Given the description of an element on the screen output the (x, y) to click on. 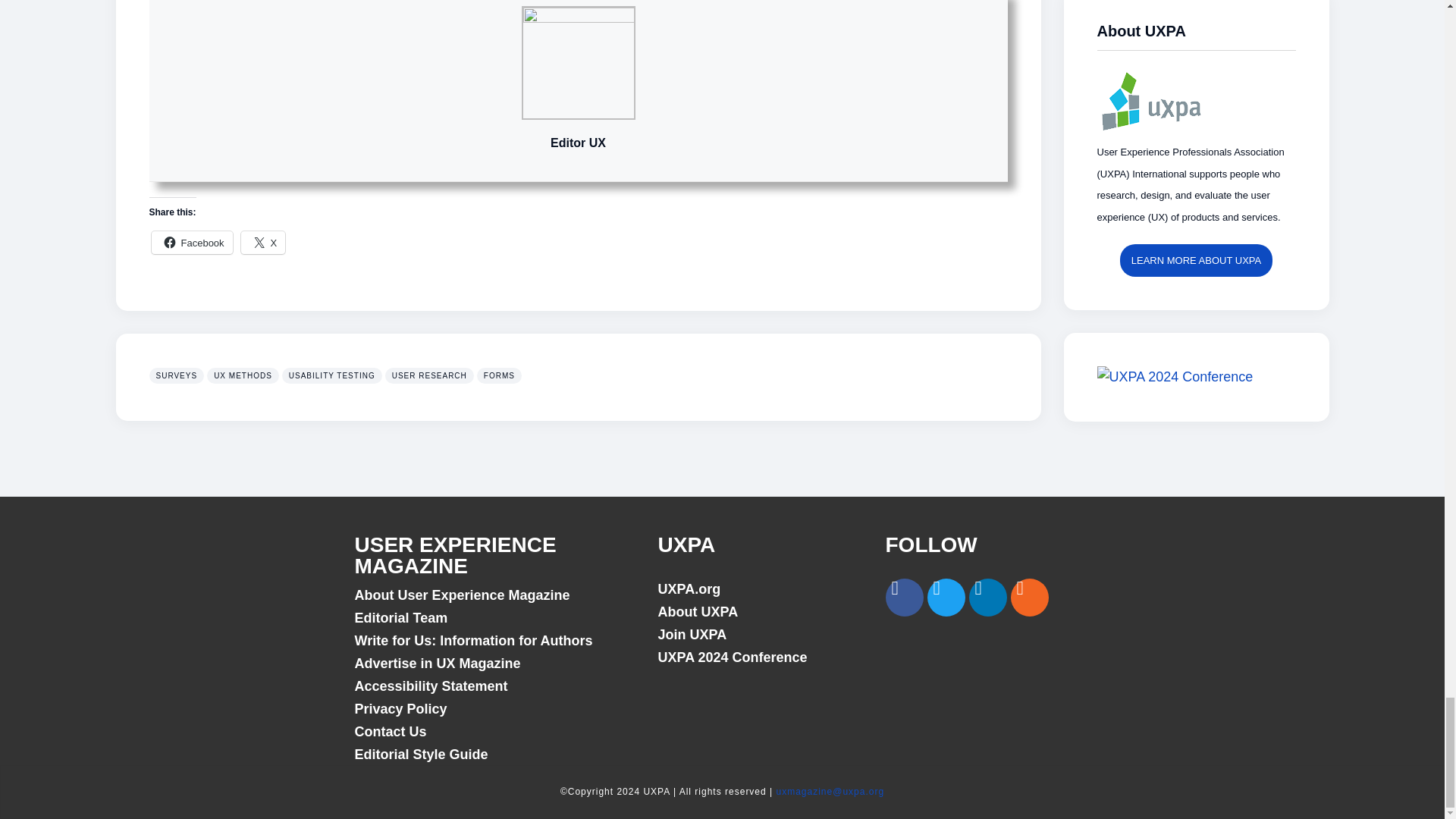
Click to share on Facebook (191, 241)
Click to share on X (263, 241)
